Given the description of an element on the screen output the (x, y) to click on. 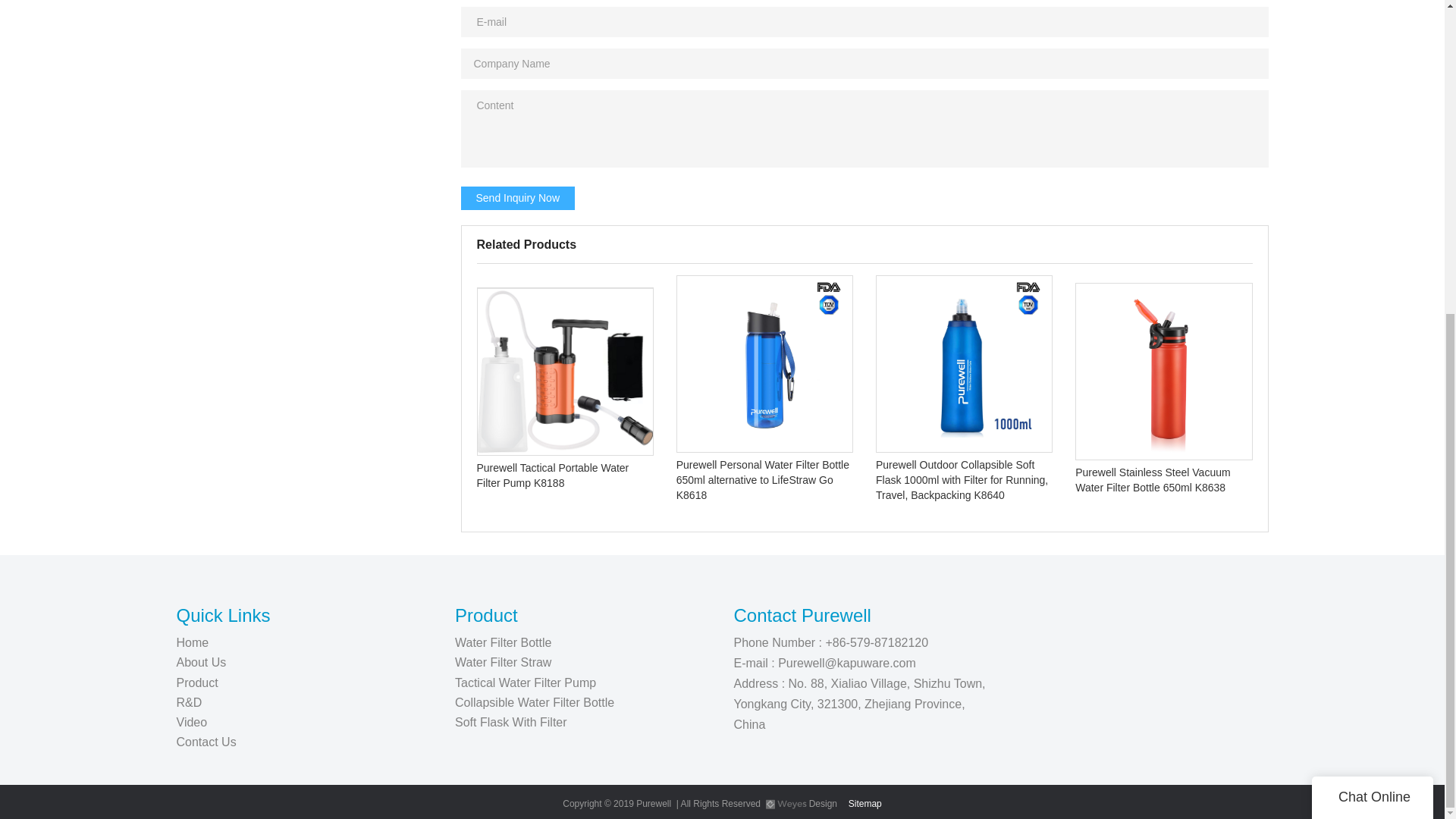
Send Inquiry Now (518, 197)
Purewell Tactical Portable Water Filter Pump K8188 (564, 391)
